Given the description of an element on the screen output the (x, y) to click on. 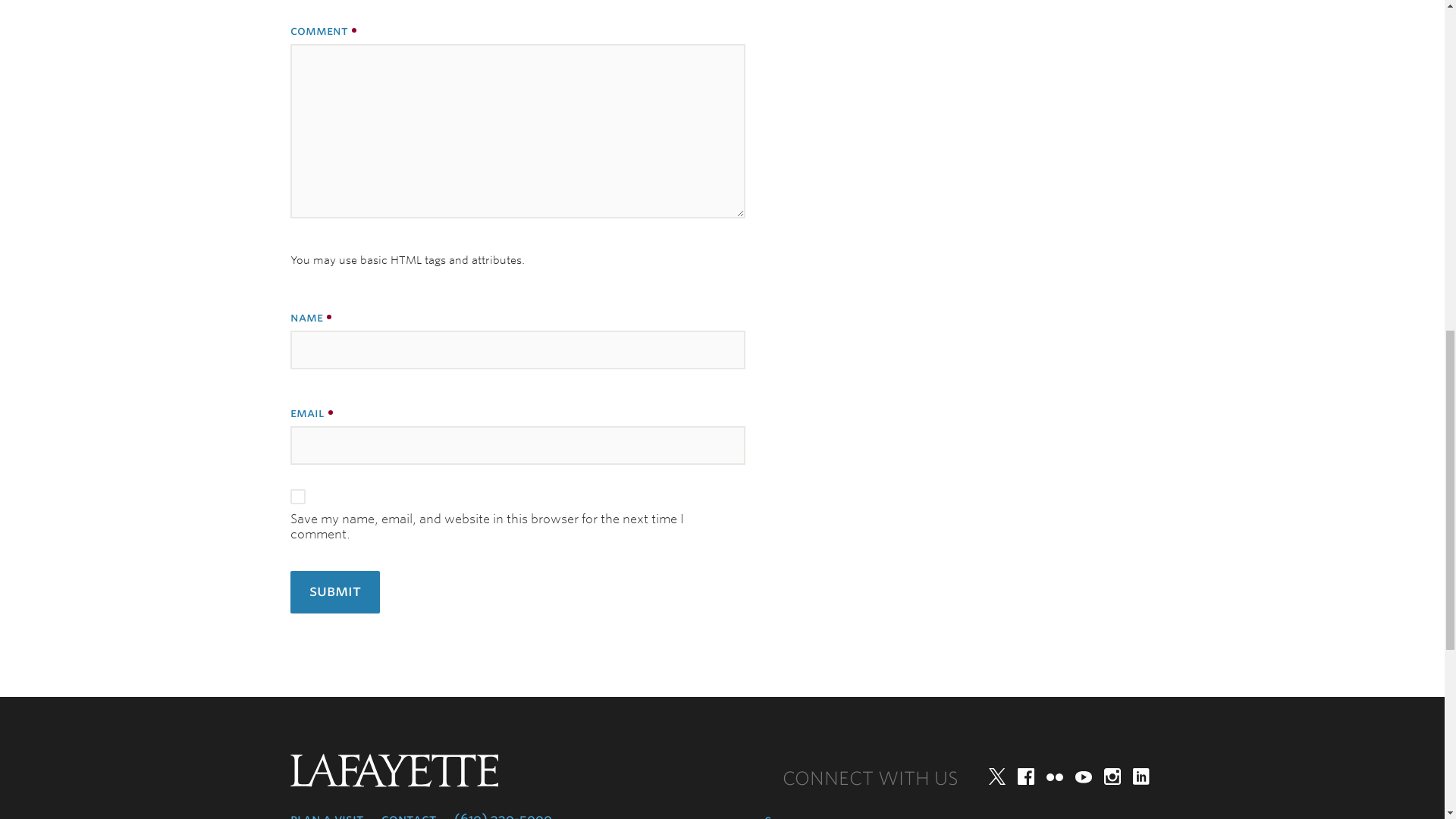
submit (333, 591)
